Given the description of an element on the screen output the (x, y) to click on. 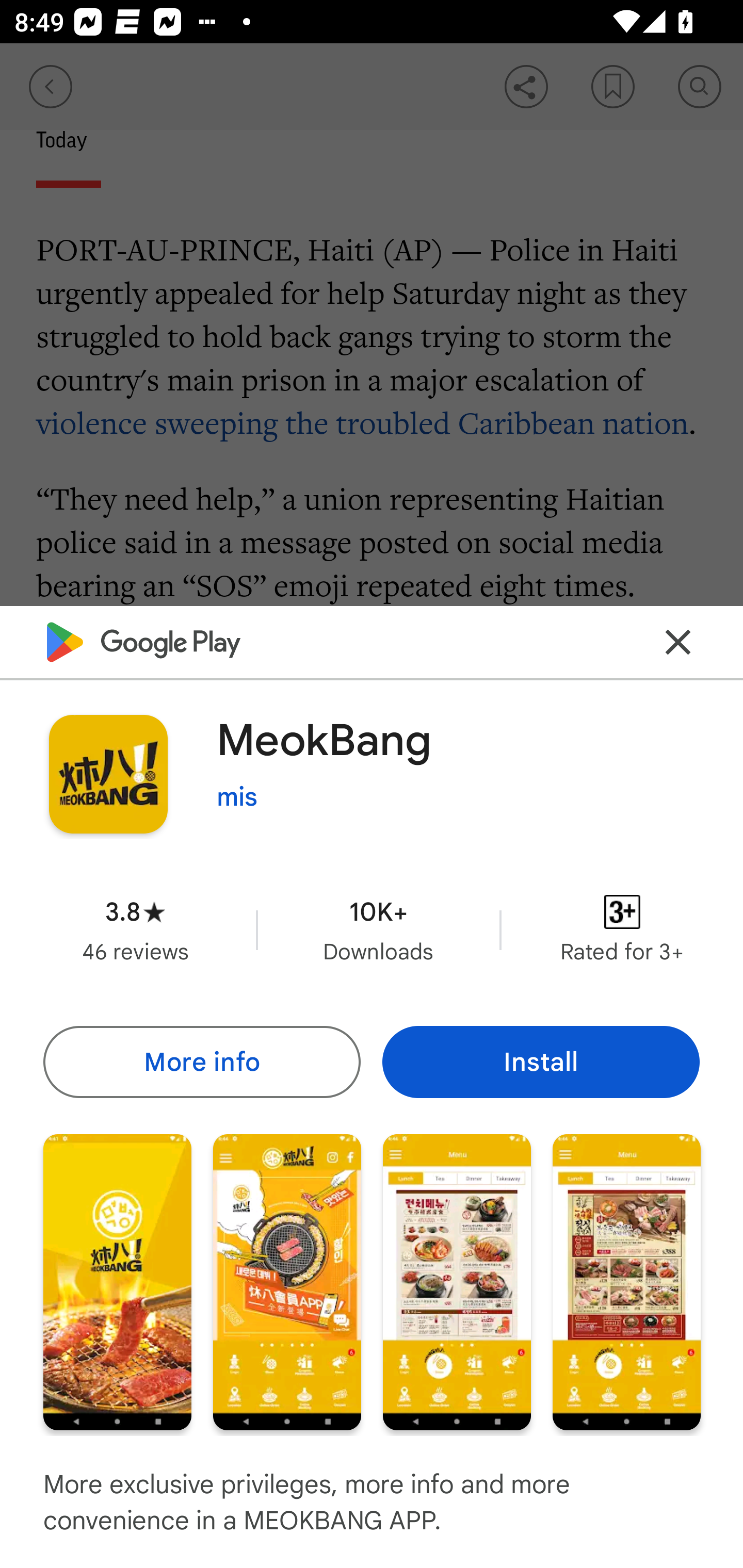
Close (677, 642)
Image of app or game icon for MeokBang (108, 773)
mis (236, 796)
More info (201, 1061)
Install (540, 1061)
Screenshot "1" of "4" (117, 1281)
Screenshot "2" of "4" (287, 1281)
Screenshot "3" of "4" (456, 1281)
Screenshot "4" of "4" (626, 1281)
